Given the description of an element on the screen output the (x, y) to click on. 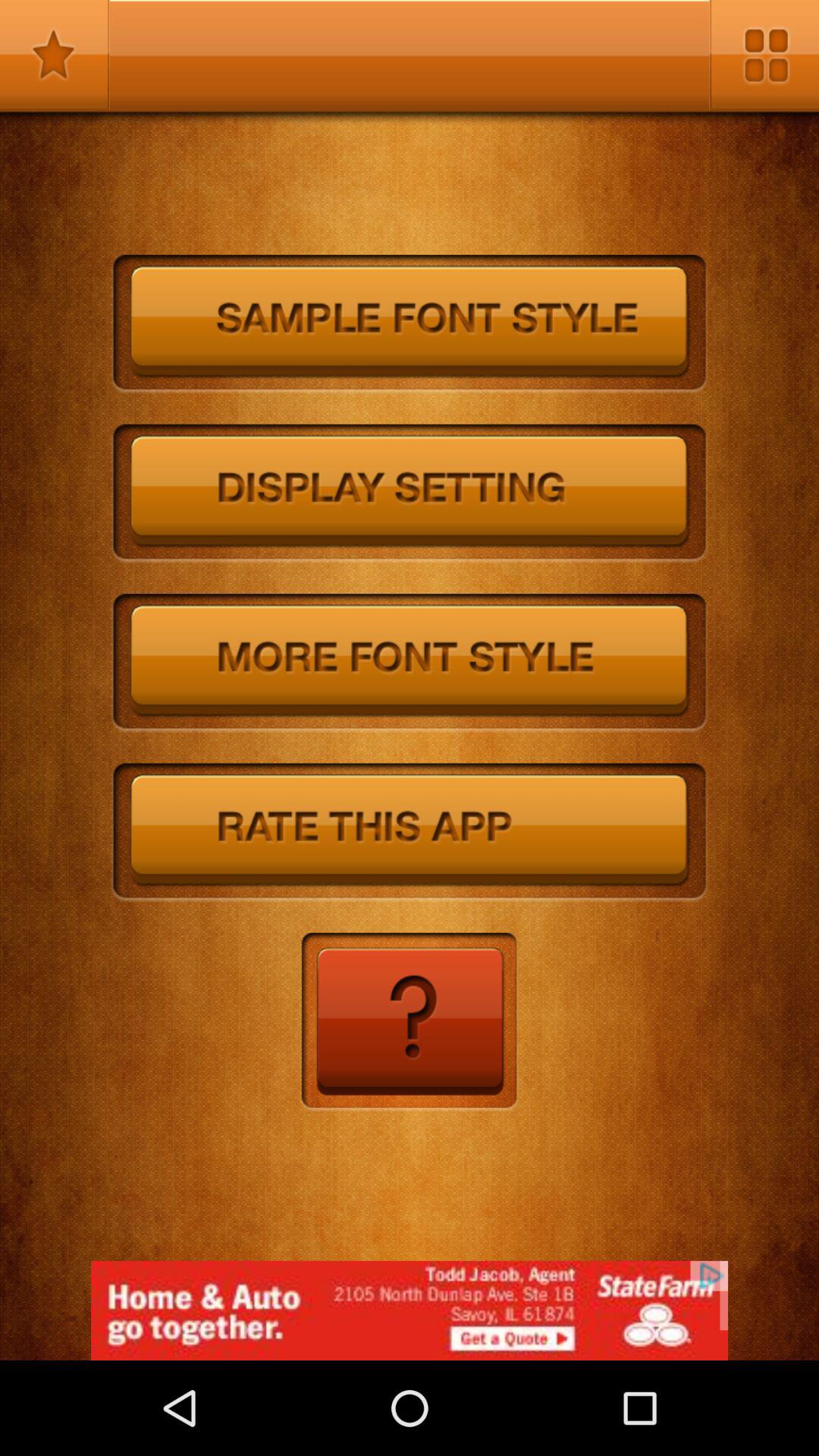
saved options and selections (54, 54)
